Given the description of an element on the screen output the (x, y) to click on. 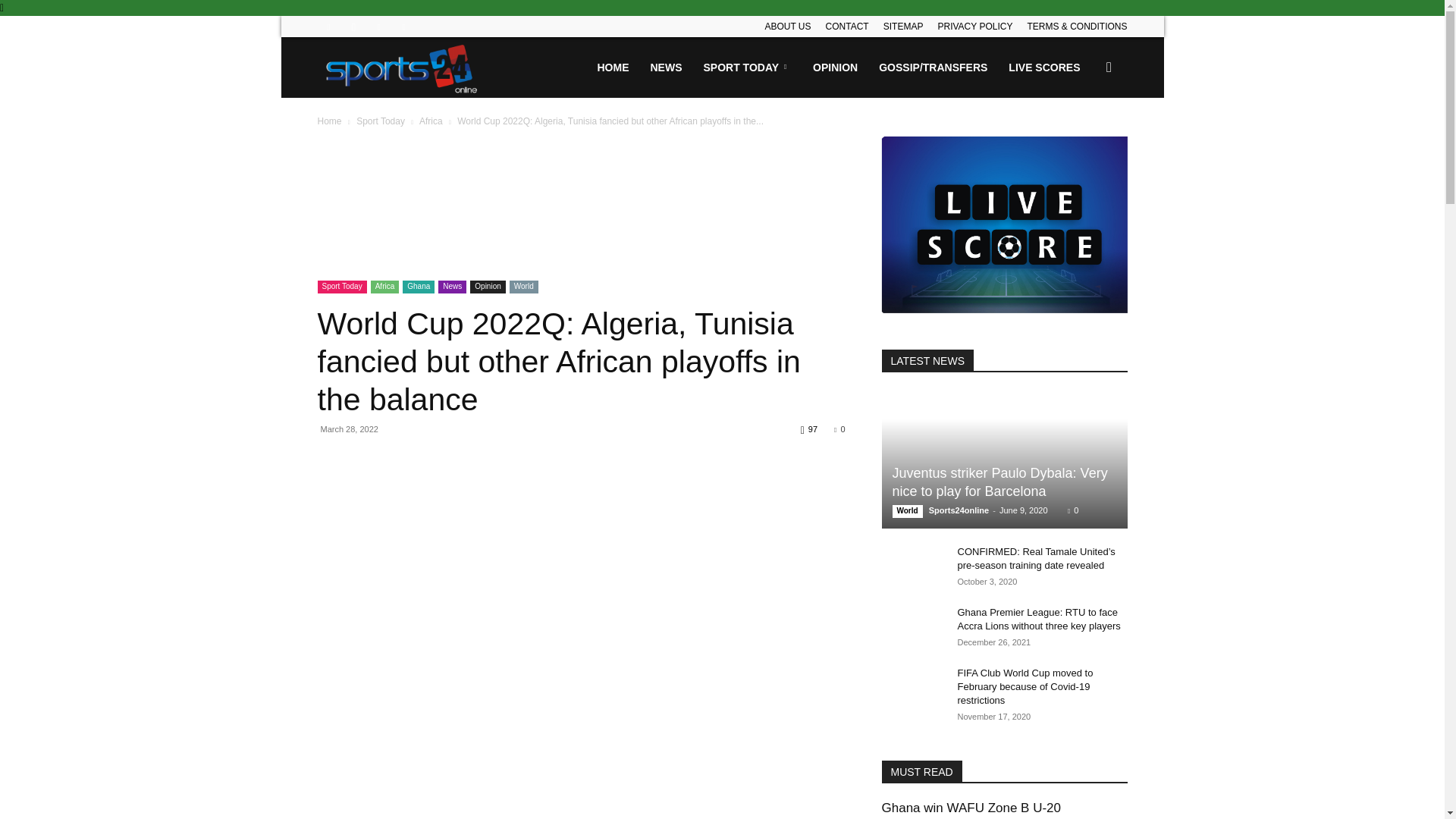
Youtube (403, 25)
SPORT TODAY (748, 66)
SITEMAP (903, 26)
PRIVACY POLICY (974, 26)
Twitter (379, 25)
Search (1085, 139)
Facebook (328, 25)
Sports24online (401, 67)
ABOUT US (787, 26)
Instagram (353, 25)
CONTACT (847, 26)
